Given the description of an element on the screen output the (x, y) to click on. 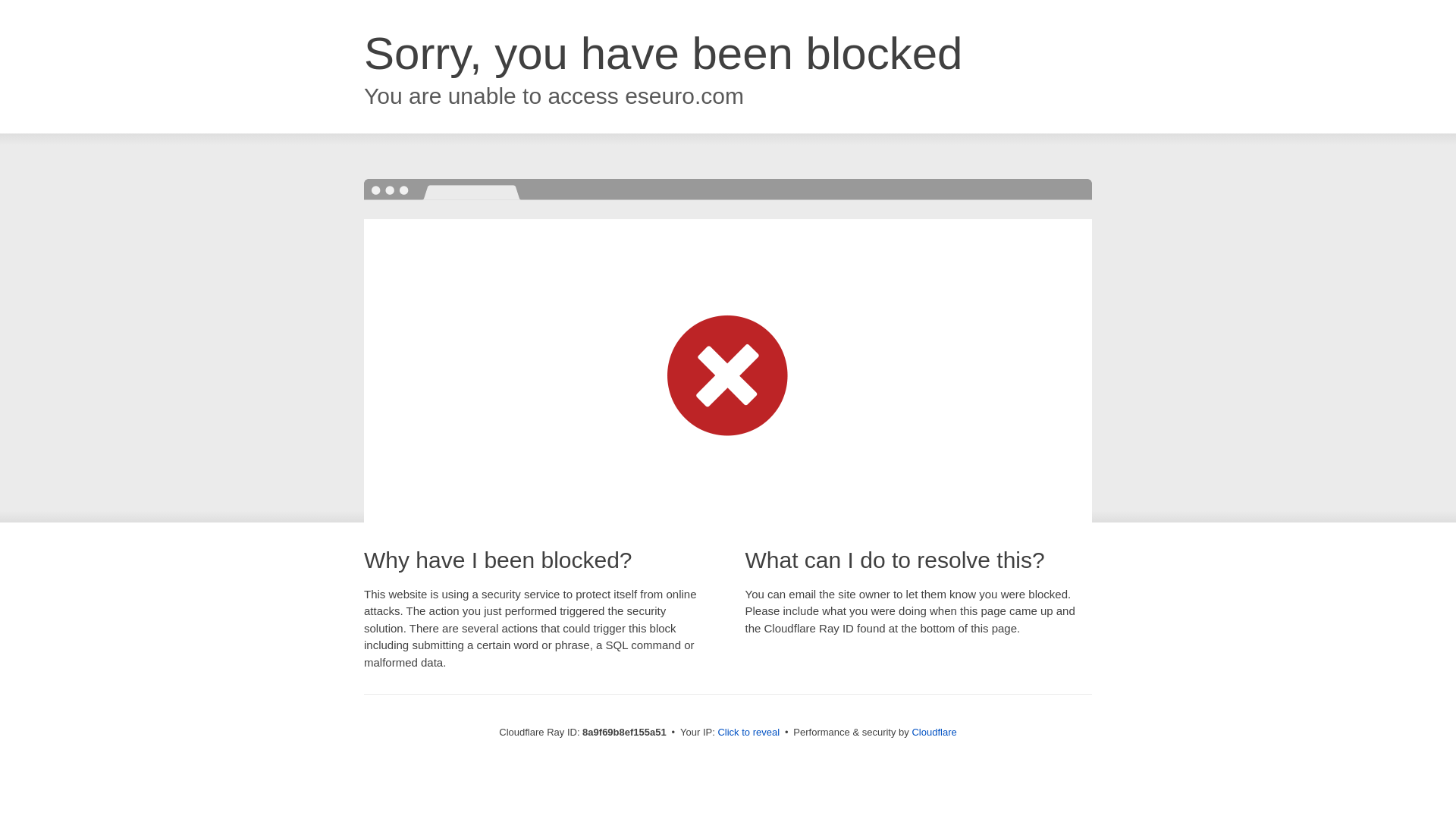
Click to reveal (747, 732)
Cloudflare (933, 731)
